Given the description of an element on the screen output the (x, y) to click on. 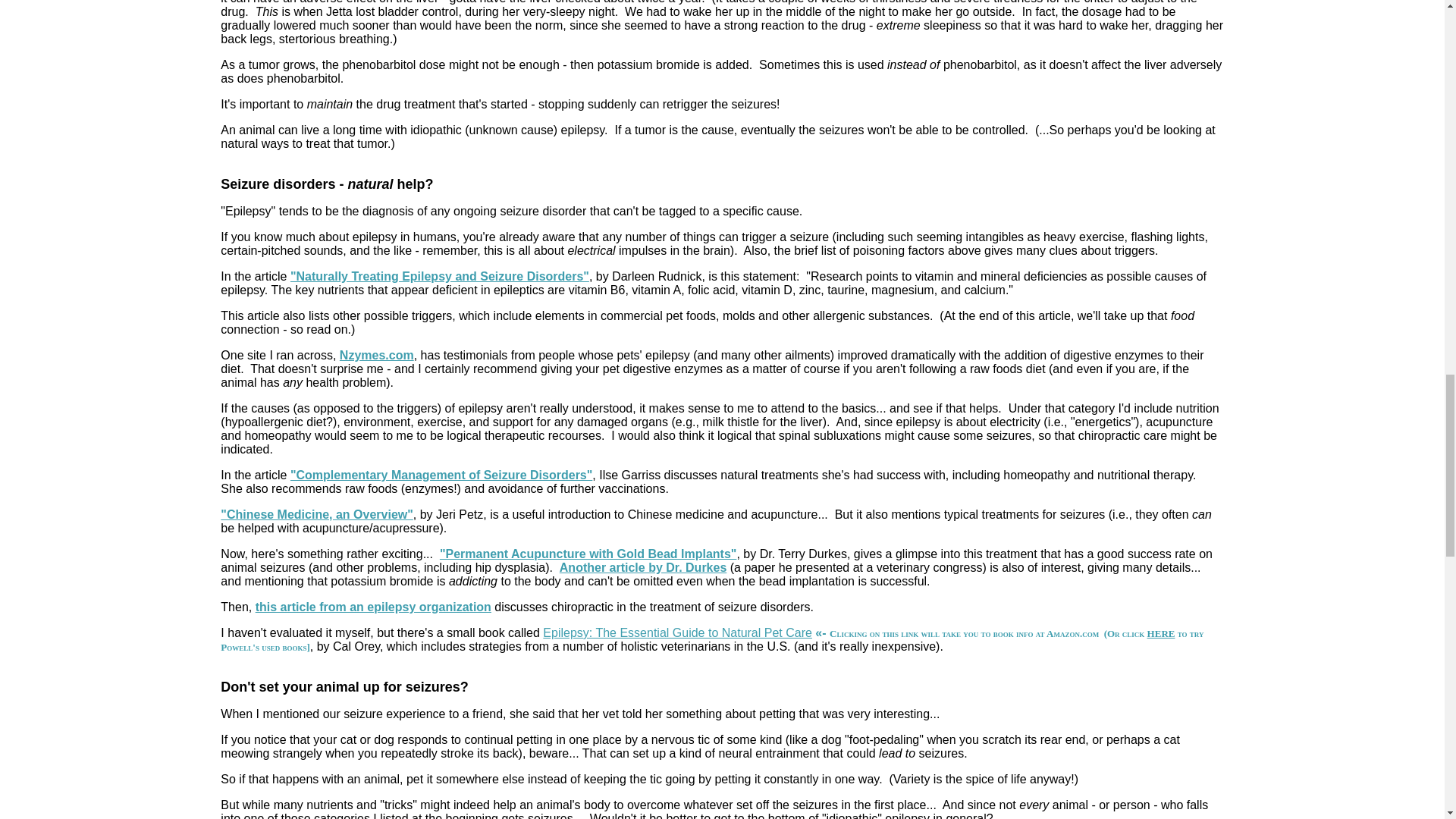
"Chinese Medicine, an Overview" (316, 513)
"Complementary Management of Seizure Disorders" (440, 474)
Another article by Dr. Durkes (642, 567)
HERE (1160, 633)
Nzymes.com (376, 354)
Epilepsy: The Essential Guide to Natural Pet Care (677, 632)
this article from an epilepsy organization (374, 606)
"Naturally Treating Epilepsy and Seizure Disorders" (439, 276)
"Permanent Acupuncture with Gold Bead Implants" (587, 553)
